Given the description of an element on the screen output the (x, y) to click on. 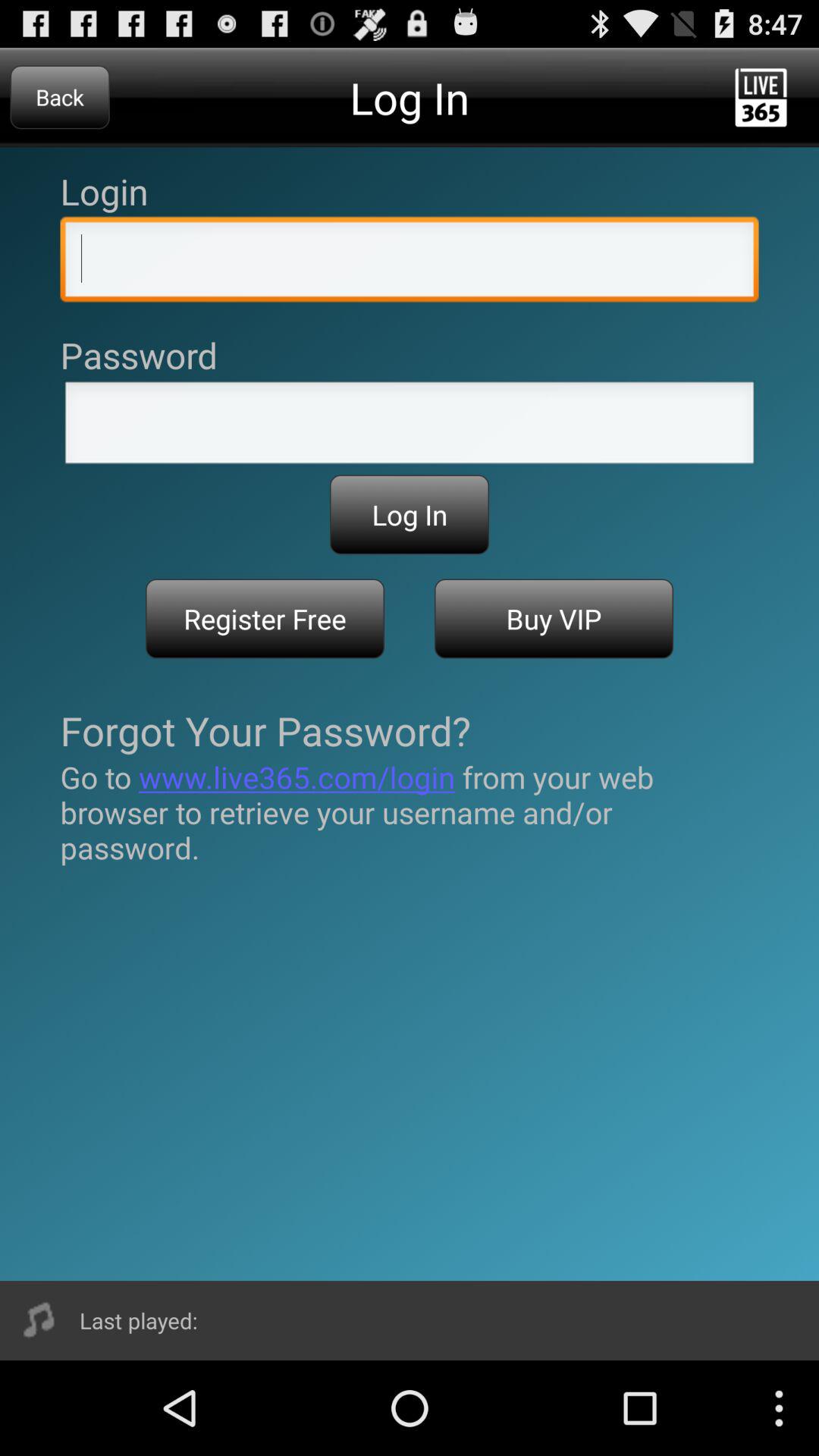
flip until the go to www icon (409, 812)
